Given the description of an element on the screen output the (x, y) to click on. 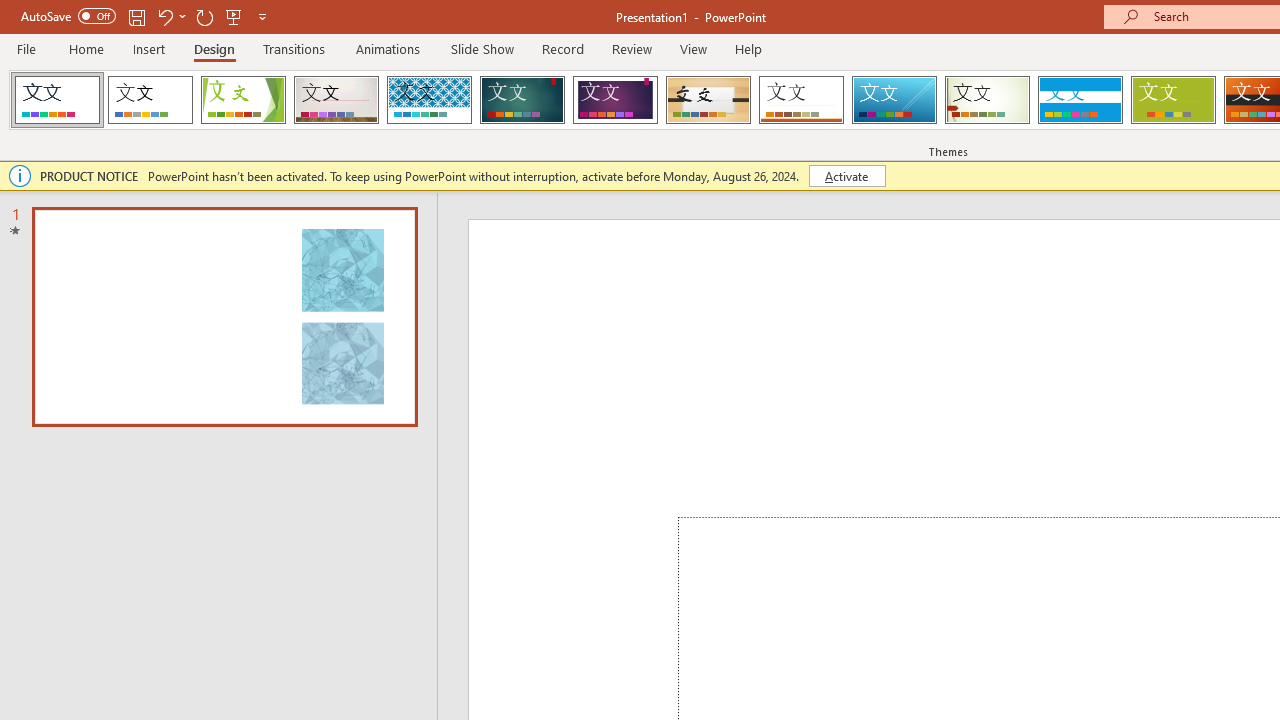
Gallery (336, 100)
Slide (224, 316)
Redo (204, 15)
File Tab (26, 48)
Integral (429, 100)
Review (631, 48)
Banded (1080, 100)
Undo (164, 15)
